Given the description of an element on the screen output the (x, y) to click on. 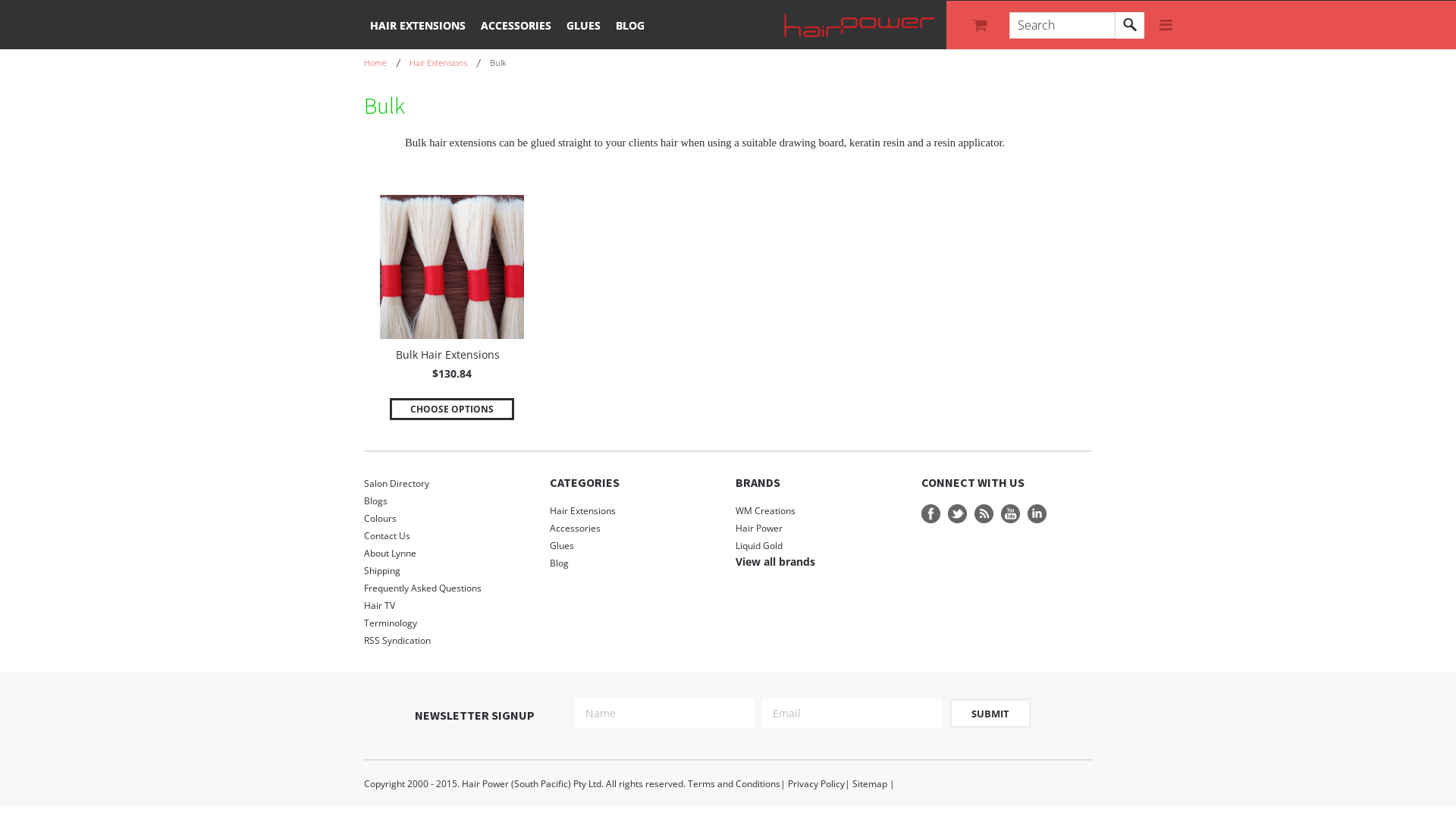
More Element type: hover (1166, 25)
RSS Element type: text (983, 513)
BLOG Element type: text (629, 24)
Hair TV Element type: text (449, 605)
Contact Us Element type: text (449, 535)
Twitter Element type: text (956, 513)
Liquid Gold Element type: text (758, 545)
HAIR EXTENSIONS Element type: text (417, 24)
Salon Directory Element type: text (449, 482)
Glues Element type: text (634, 545)
Colours Element type: text (449, 517)
Sitemap Element type: text (869, 783)
ACCESSORIES Element type: text (515, 24)
Accessories Element type: text (634, 527)
Search Element type: hover (1129, 25)
Shipping Element type: text (449, 570)
Home Element type: text (382, 62)
Hair Power Element type: text (758, 527)
View all brands Element type: text (775, 561)
Blog Element type: text (634, 562)
CHOOSE OPTIONS Element type: text (451, 409)
Privacy Policy Element type: text (815, 783)
About Lynne Element type: text (449, 552)
Hair Extensions Element type: text (444, 62)
Bulk Hair Extensions Element type: text (447, 356)
YouTube Element type: text (1010, 513)
Blogs Element type: text (449, 500)
LinkedIn Element type: text (1036, 513)
Frequently Asked Questions Element type: text (449, 587)
GLUES Element type: text (583, 24)
Terms and Conditions Element type: text (733, 783)
Submit Element type: text (990, 713)
WM Creations Element type: text (765, 510)
Facebook Element type: text (930, 513)
View Cart Element type: hover (981, 24)
Hair Extensions Element type: text (634, 510)
Terminology Element type: text (449, 622)
RSS Syndication Element type: text (449, 639)
